Given the description of an element on the screen output the (x, y) to click on. 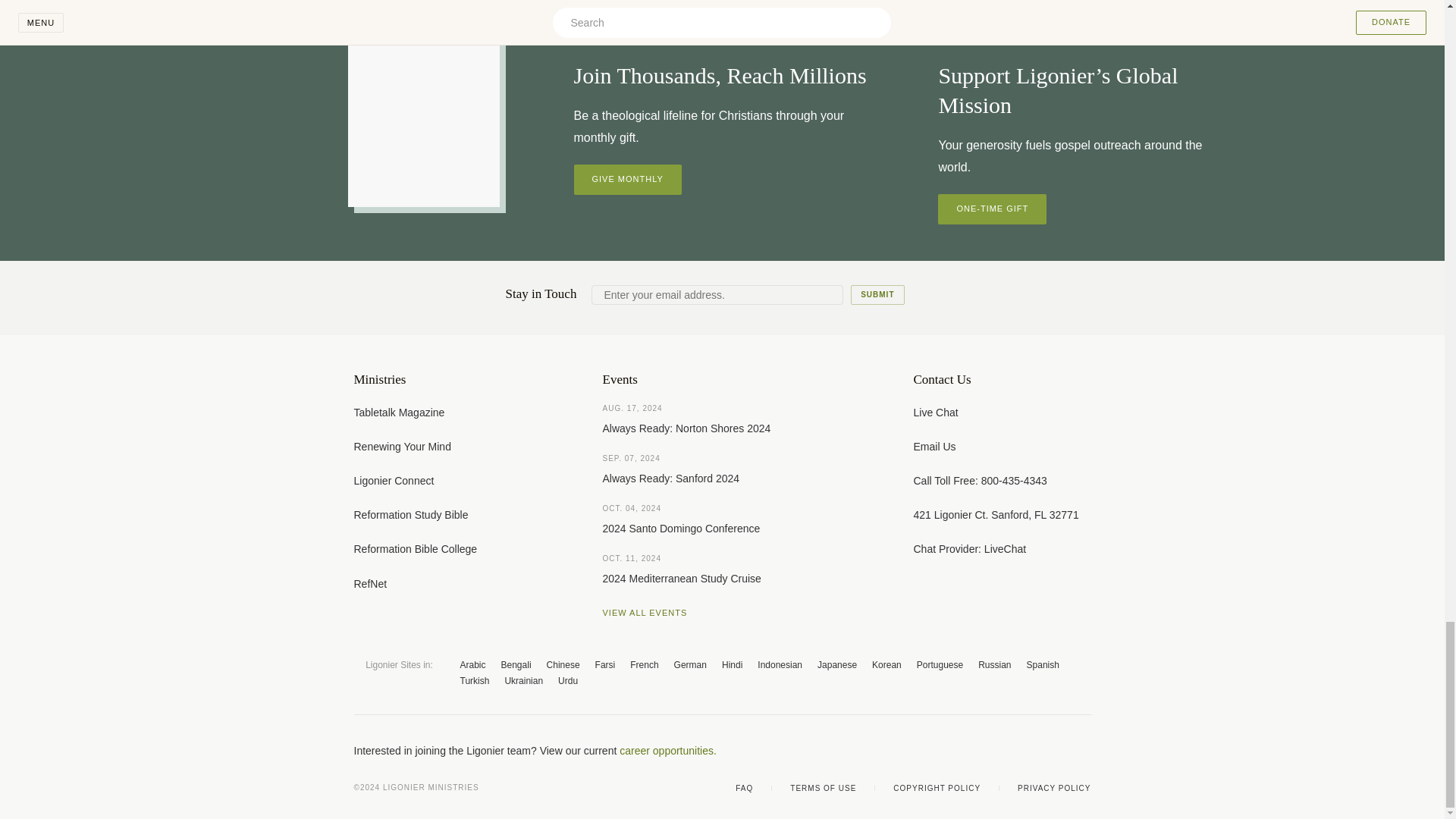
Linkedin (1083, 751)
YouTube (1023, 751)
X (993, 751)
Instagram (1053, 751)
Facebook (962, 751)
